Given the description of an element on the screen output the (x, y) to click on. 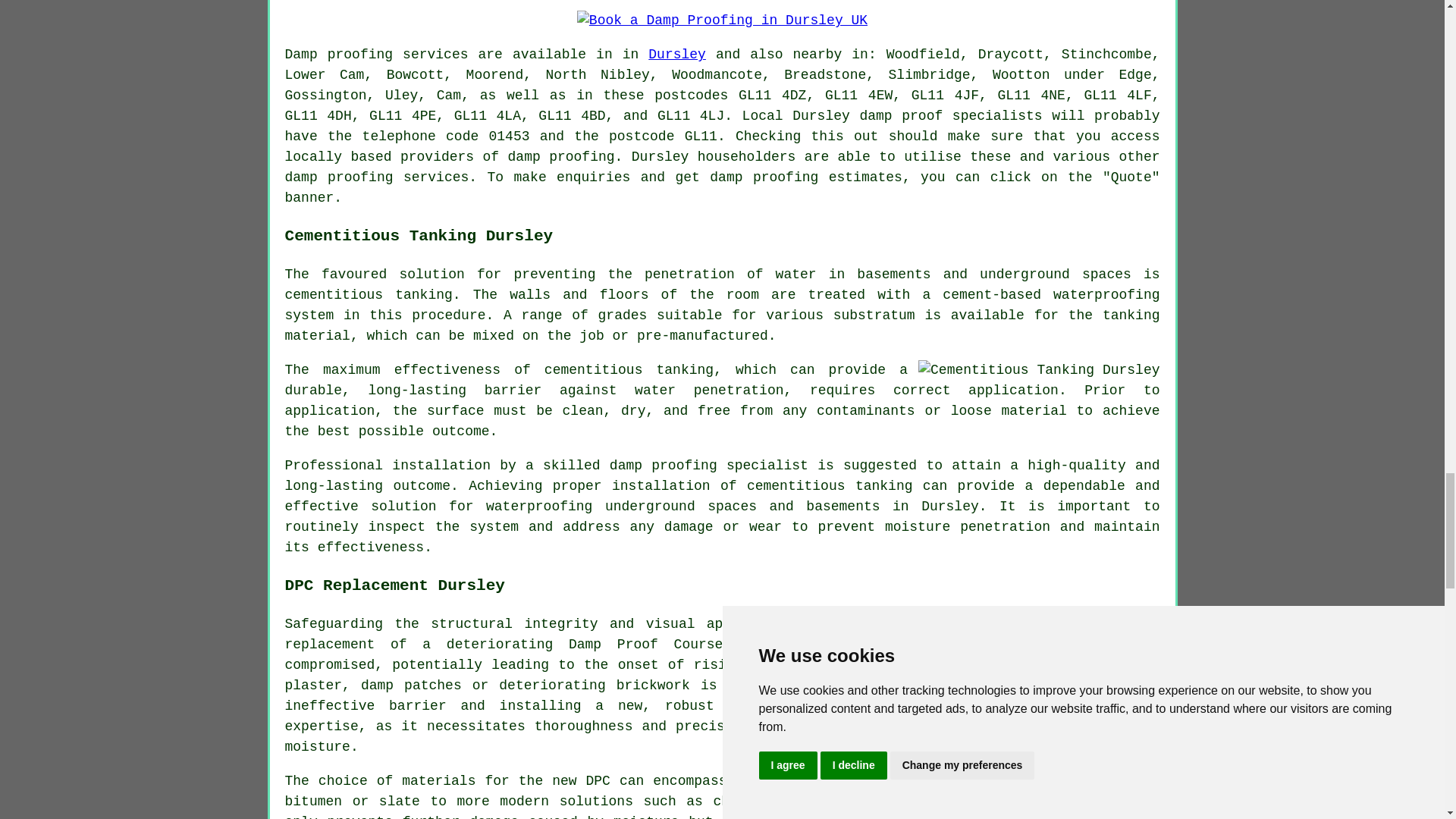
Book a Damp Proofing in Dursley UK (721, 20)
services (435, 177)
damp proofing (561, 156)
Cementitious Tanking Dursley (1038, 370)
Damp proofing (339, 54)
cementitious tanking (628, 369)
